Given the description of an element on the screen output the (x, y) to click on. 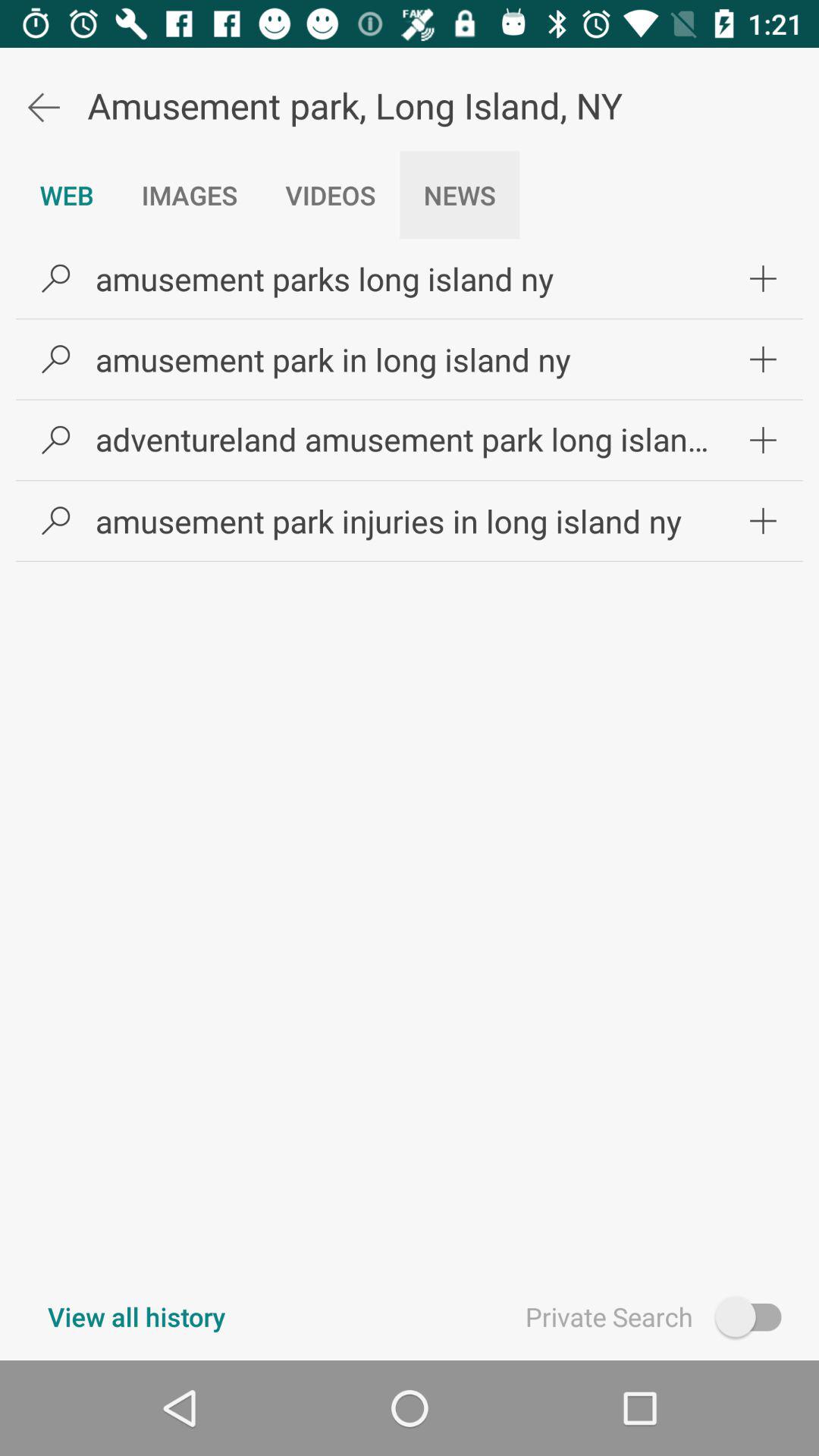
click item to the right of adventureland amusement park item (763, 440)
